Given the description of an element on the screen output the (x, y) to click on. 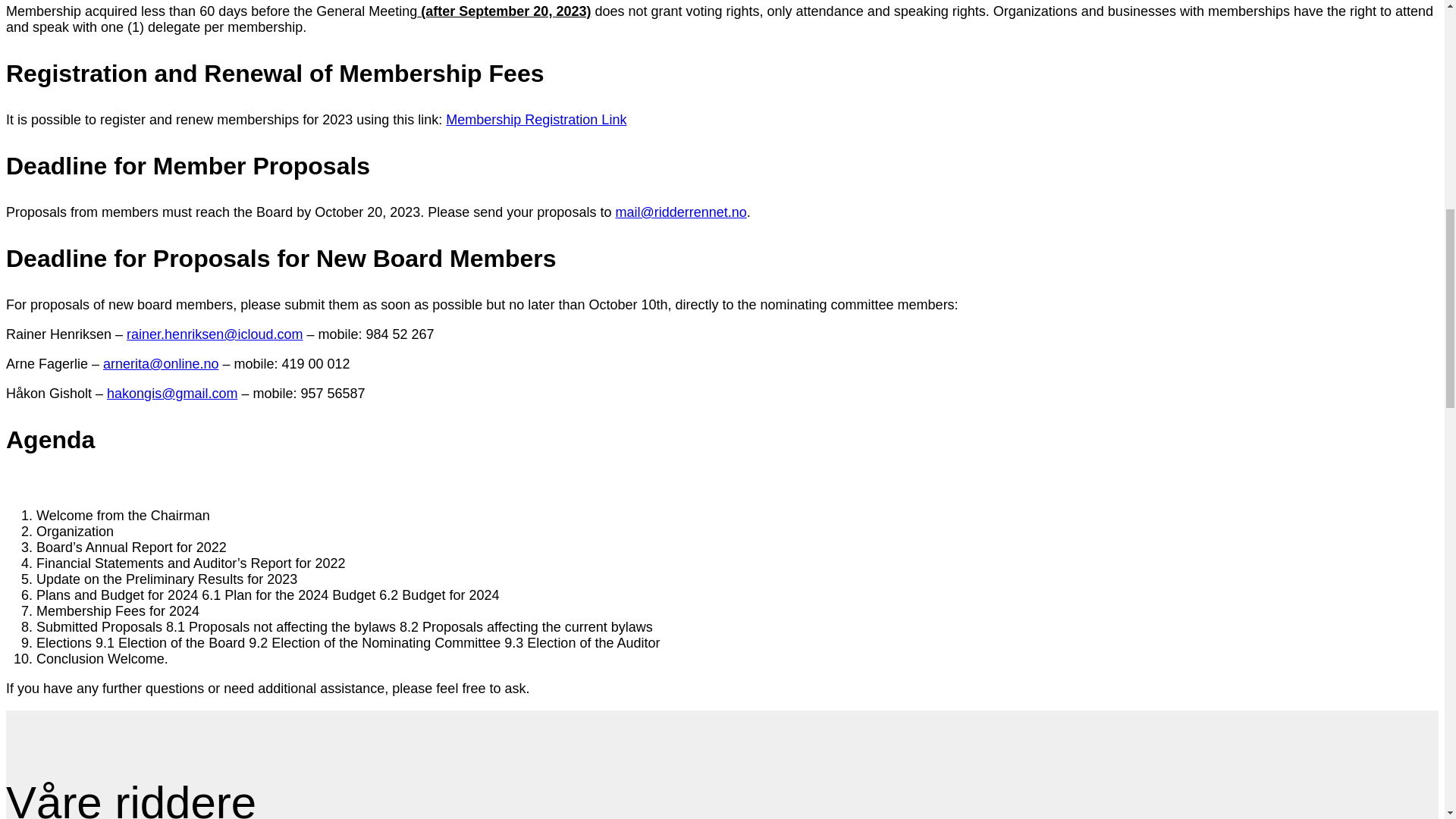
Membership Registration Link (535, 119)
